Given the description of an element on the screen output the (x, y) to click on. 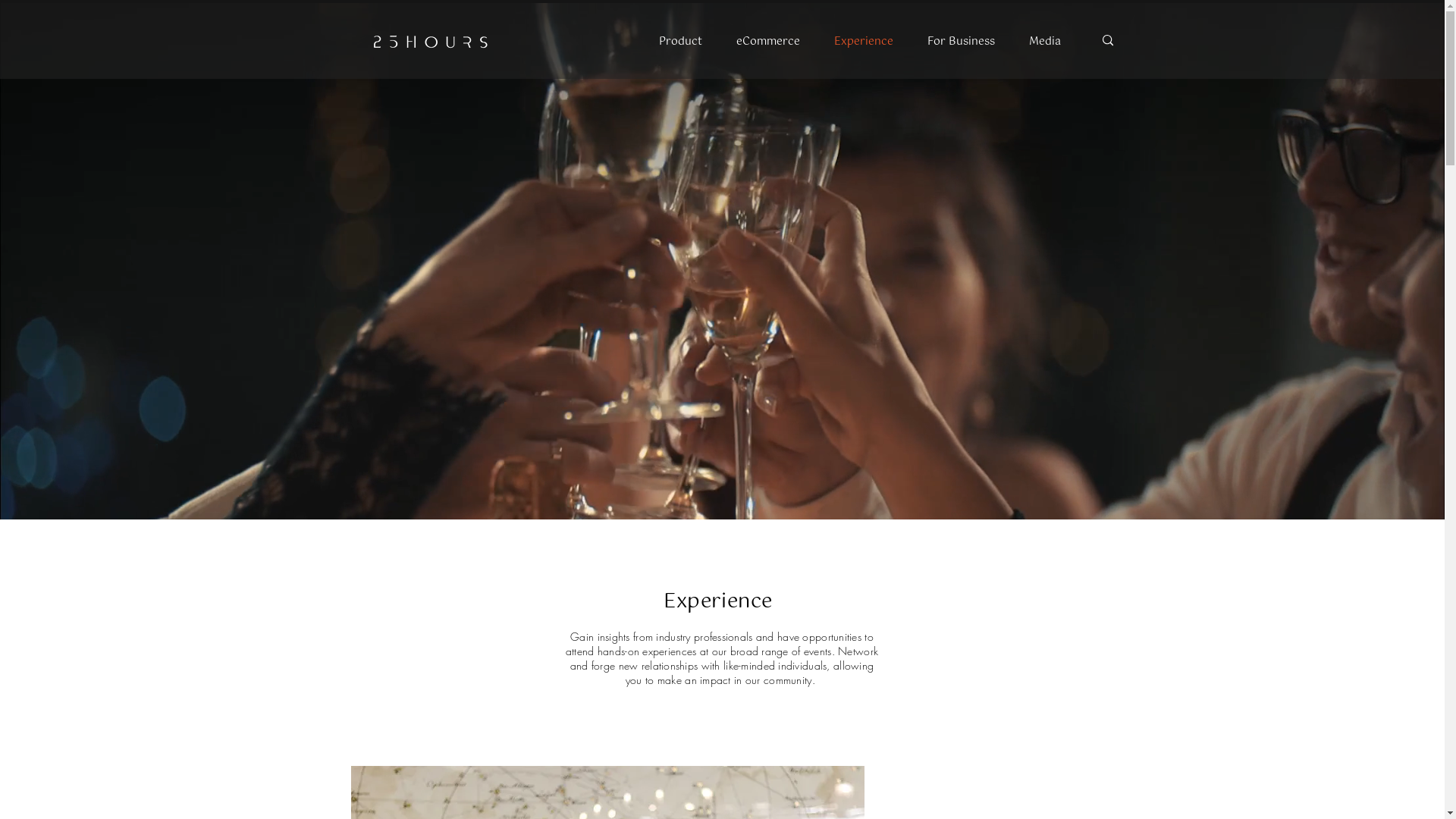
Product Element type: text (680, 41)
For Business Element type: text (960, 41)
Experience Element type: text (863, 41)
eCommerce Element type: text (767, 41)
Media Element type: text (1044, 41)
